Given the description of an element on the screen output the (x, y) to click on. 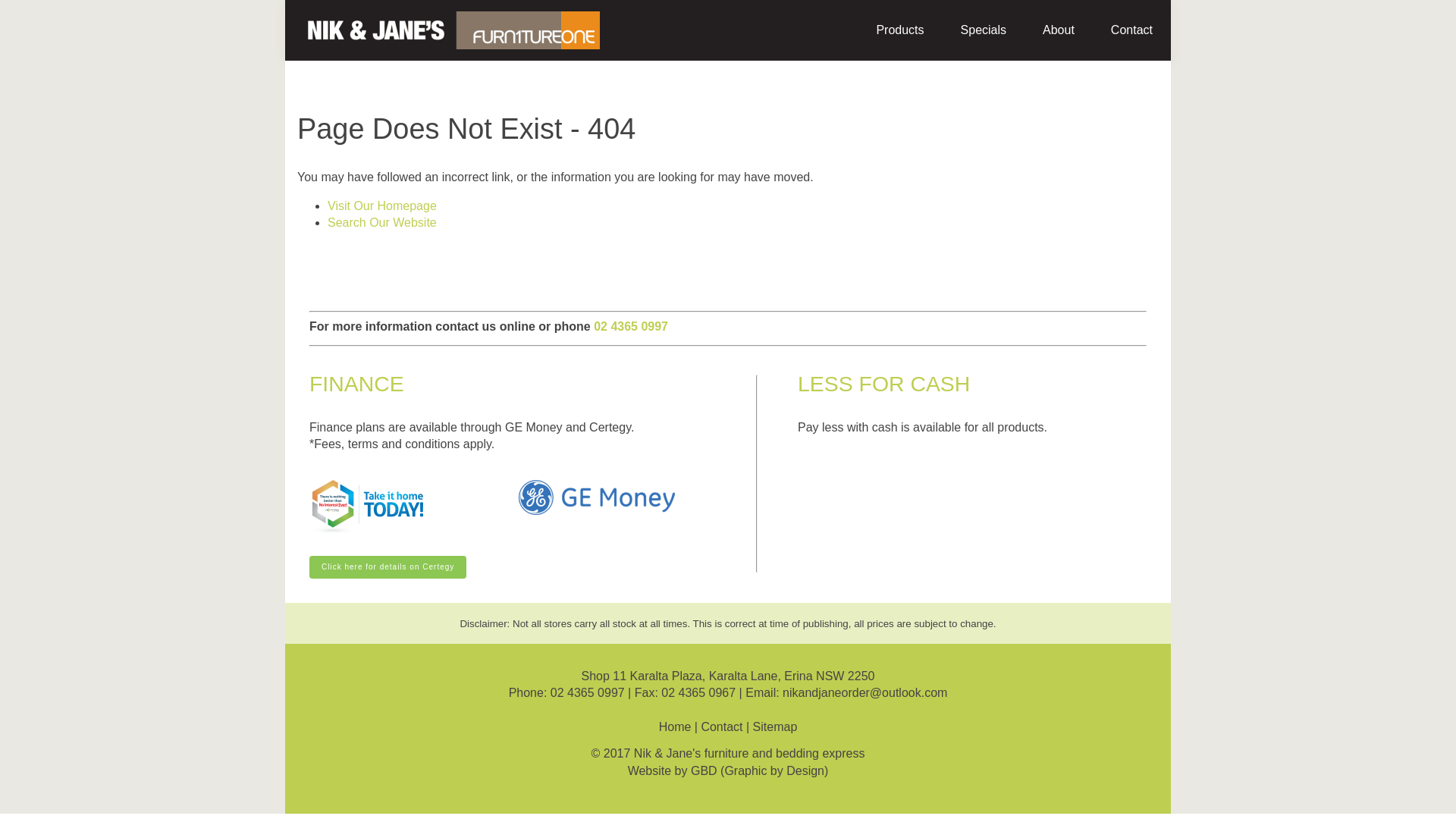
Visit Our Homepage Element type: text (381, 205)
About Element type: text (1058, 29)
Contact Element type: text (1131, 29)
Search Our Website Element type: text (381, 222)
02 4365 0967 Element type: text (698, 692)
Products Element type: text (899, 29)
02 4365 0997 Element type: text (587, 692)
Website by GBD (Graphic by Design) Element type: text (727, 770)
Specials Element type: text (983, 29)
Click here for details on Certegy Element type: text (387, 566)
02 4365 0997 Element type: text (630, 326)
